Given the description of an element on the screen output the (x, y) to click on. 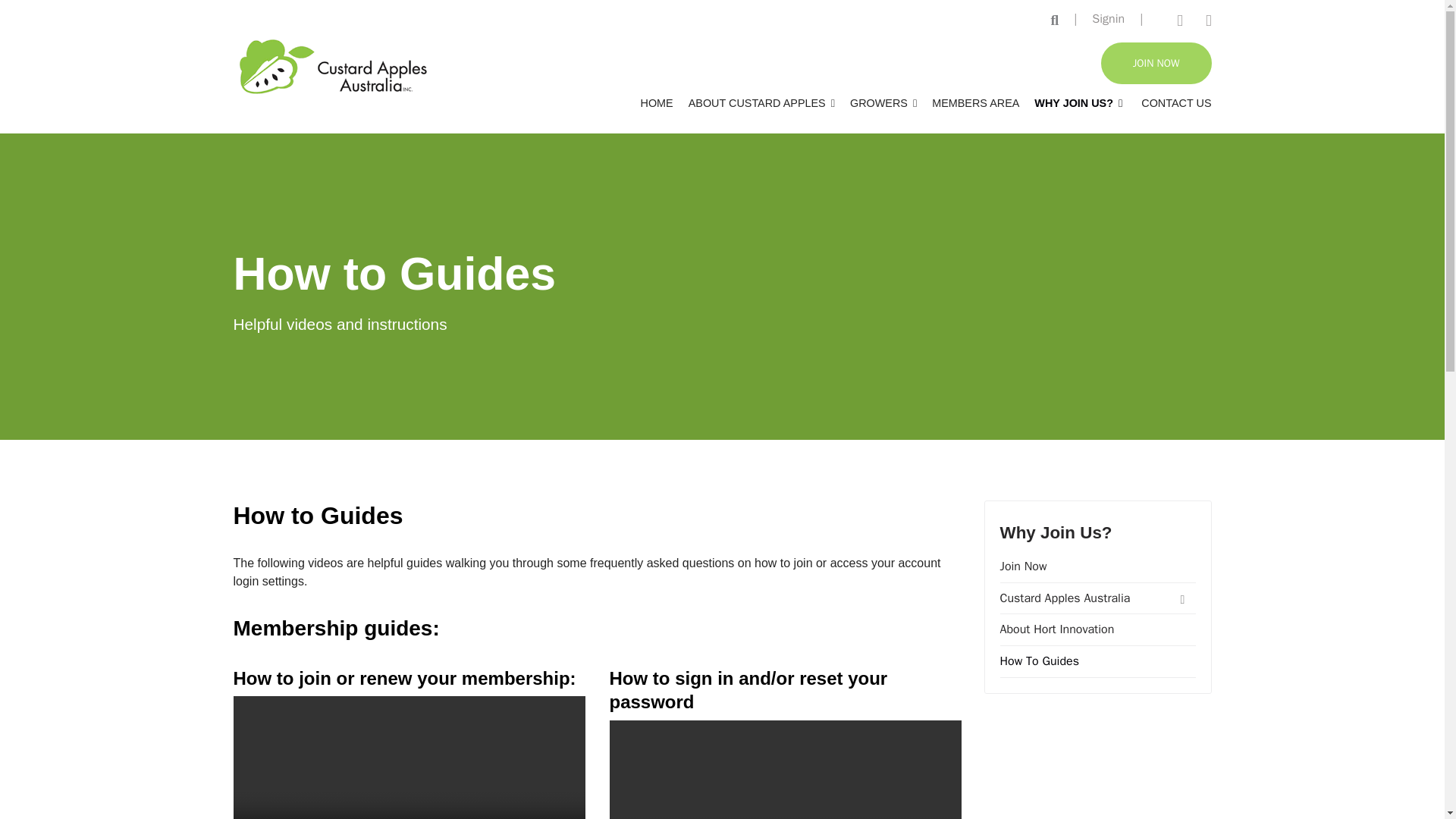
WHY JOIN US? (1077, 103)
Custard Apples Australia (1096, 597)
MEMBERS AREA (975, 103)
ABOUT CUSTARD APPLES (762, 103)
Join Now (1096, 566)
CONTACT US (1170, 103)
JOIN NOW (1155, 63)
GROWERS (883, 103)
HOME (655, 103)
Why Join Us? (1055, 532)
